Given the description of an element on the screen output the (x, y) to click on. 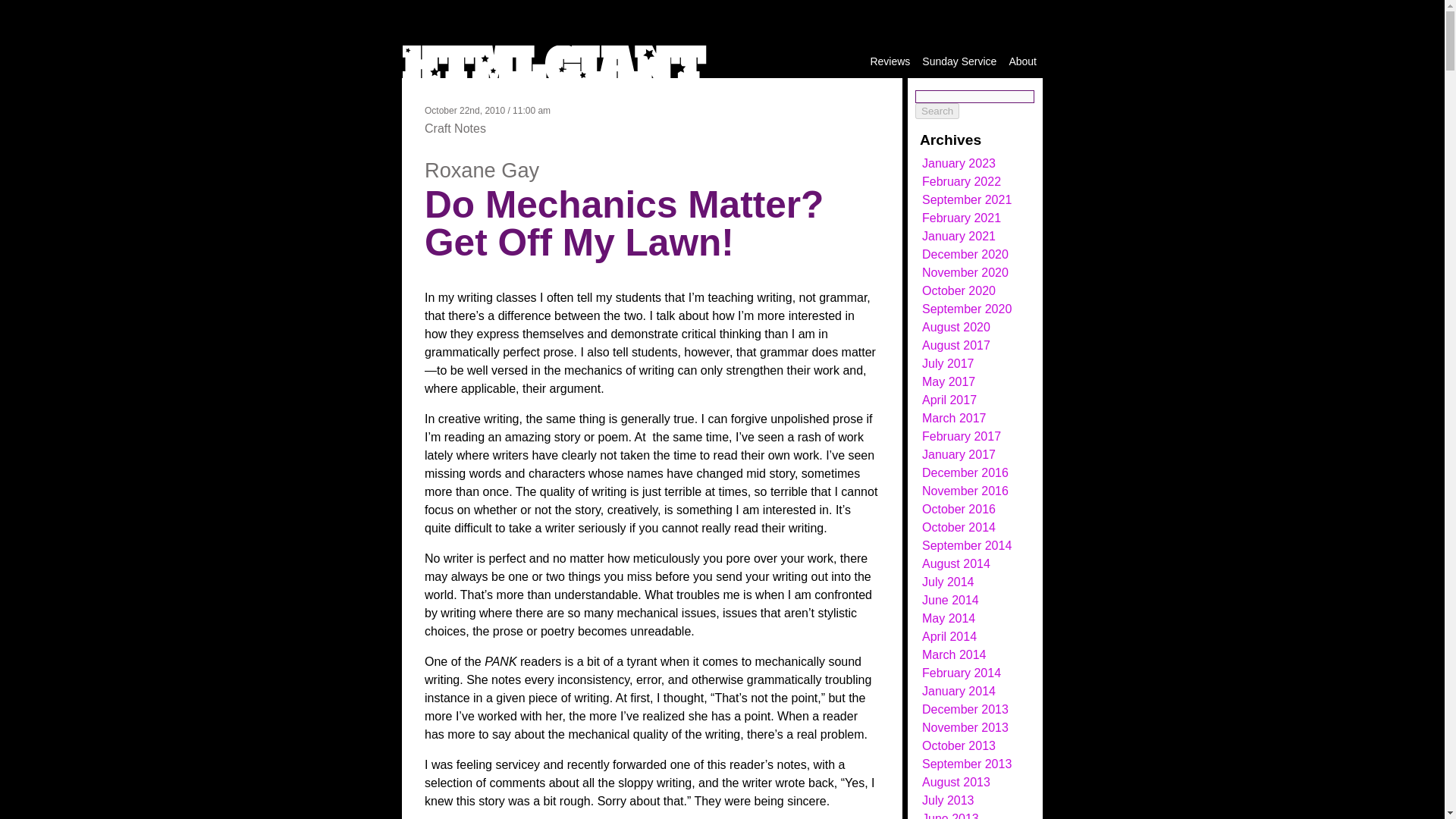
Reviews (889, 61)
About (1022, 61)
Roxane Gay (481, 169)
Search (937, 110)
Posts by Roxane Gay (481, 169)
Sunday Service (958, 61)
Craft Notes (455, 128)
